Given the description of an element on the screen output the (x, y) to click on. 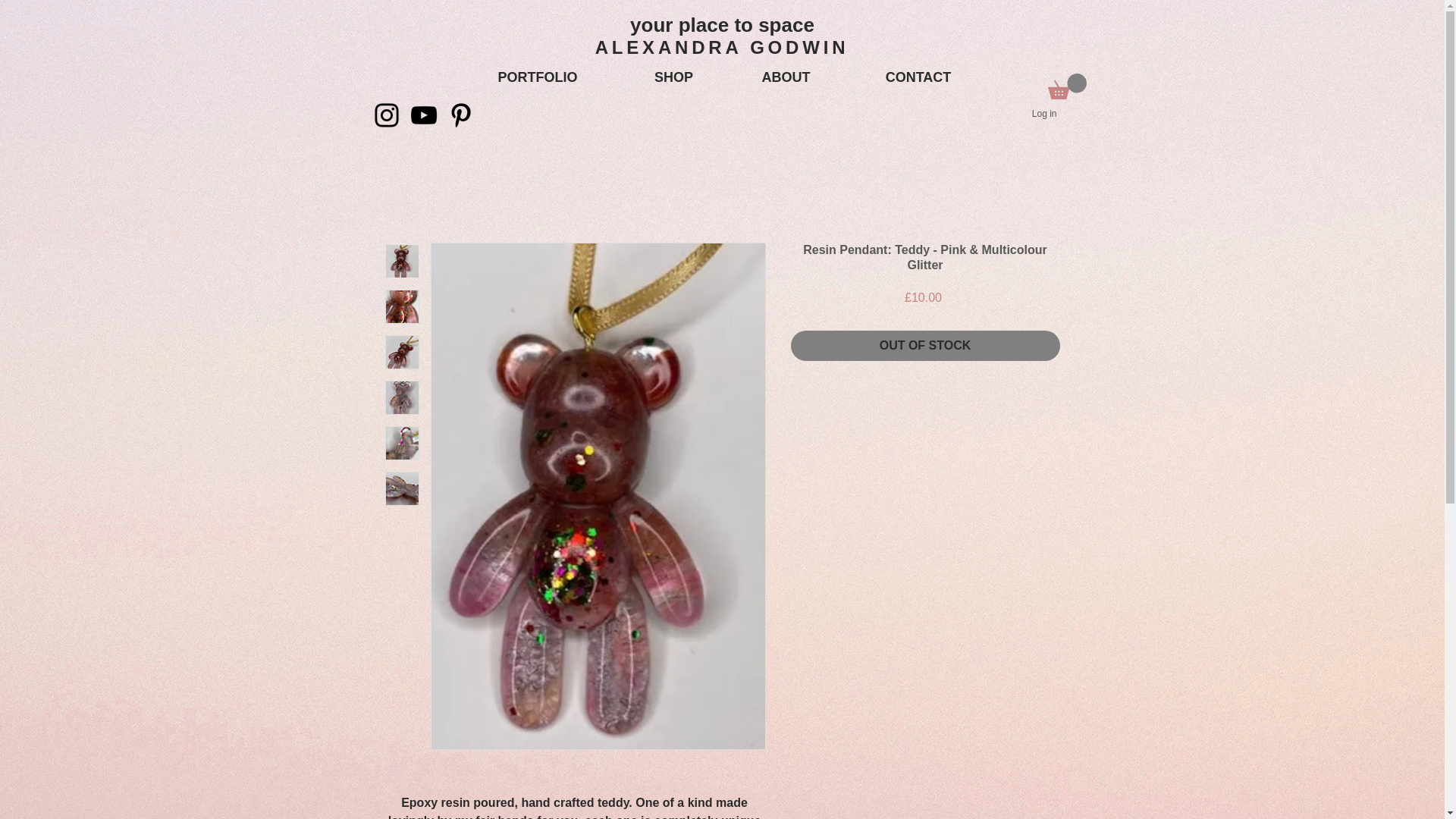
ALEXANDRA GO (690, 46)
DWIN (817, 46)
PORTFOLIO (536, 77)
